Given the description of an element on the screen output the (x, y) to click on. 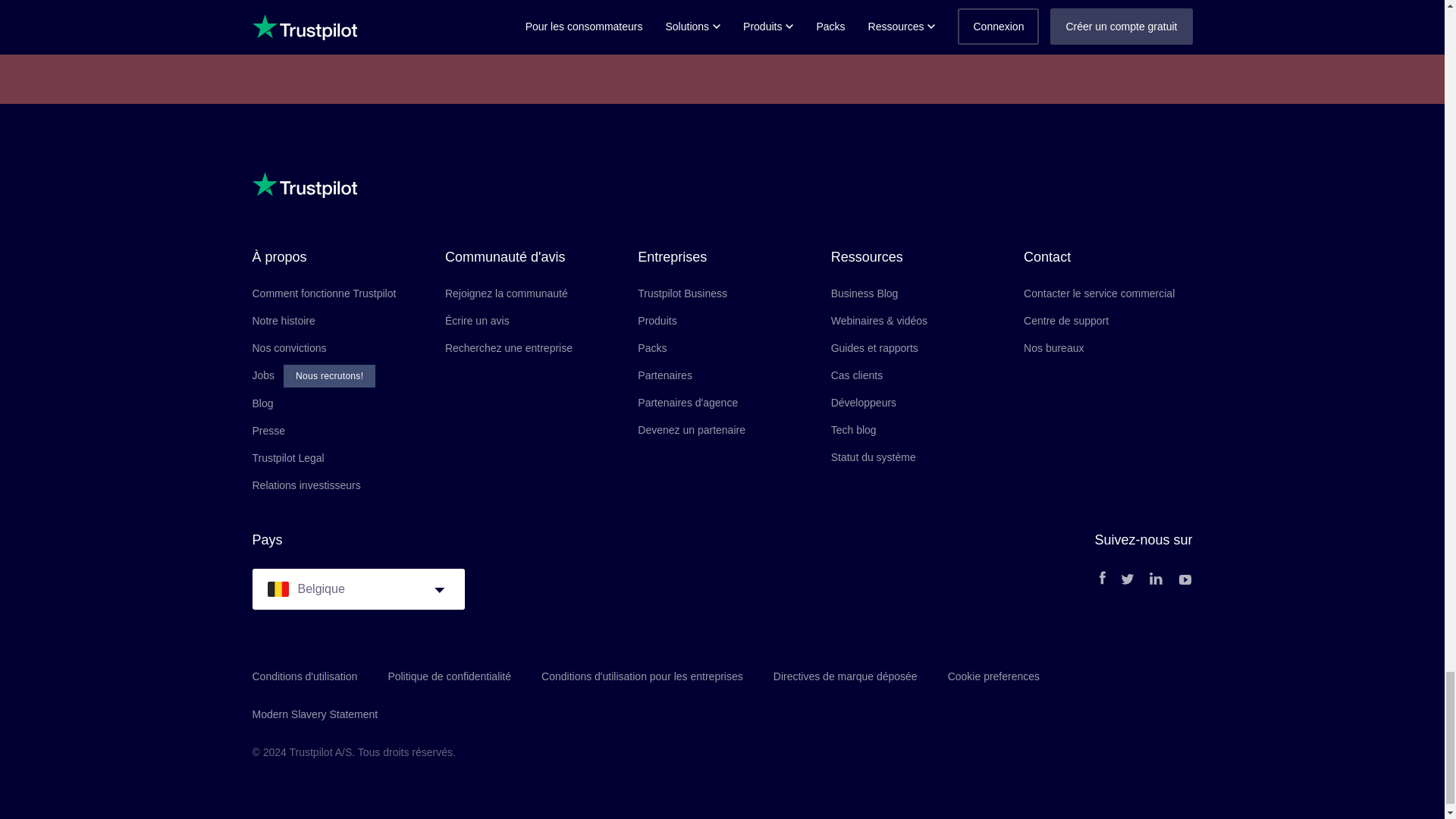
Belgique (277, 589)
Trustpilot Logo (303, 184)
